Given the description of an element on the screen output the (x, y) to click on. 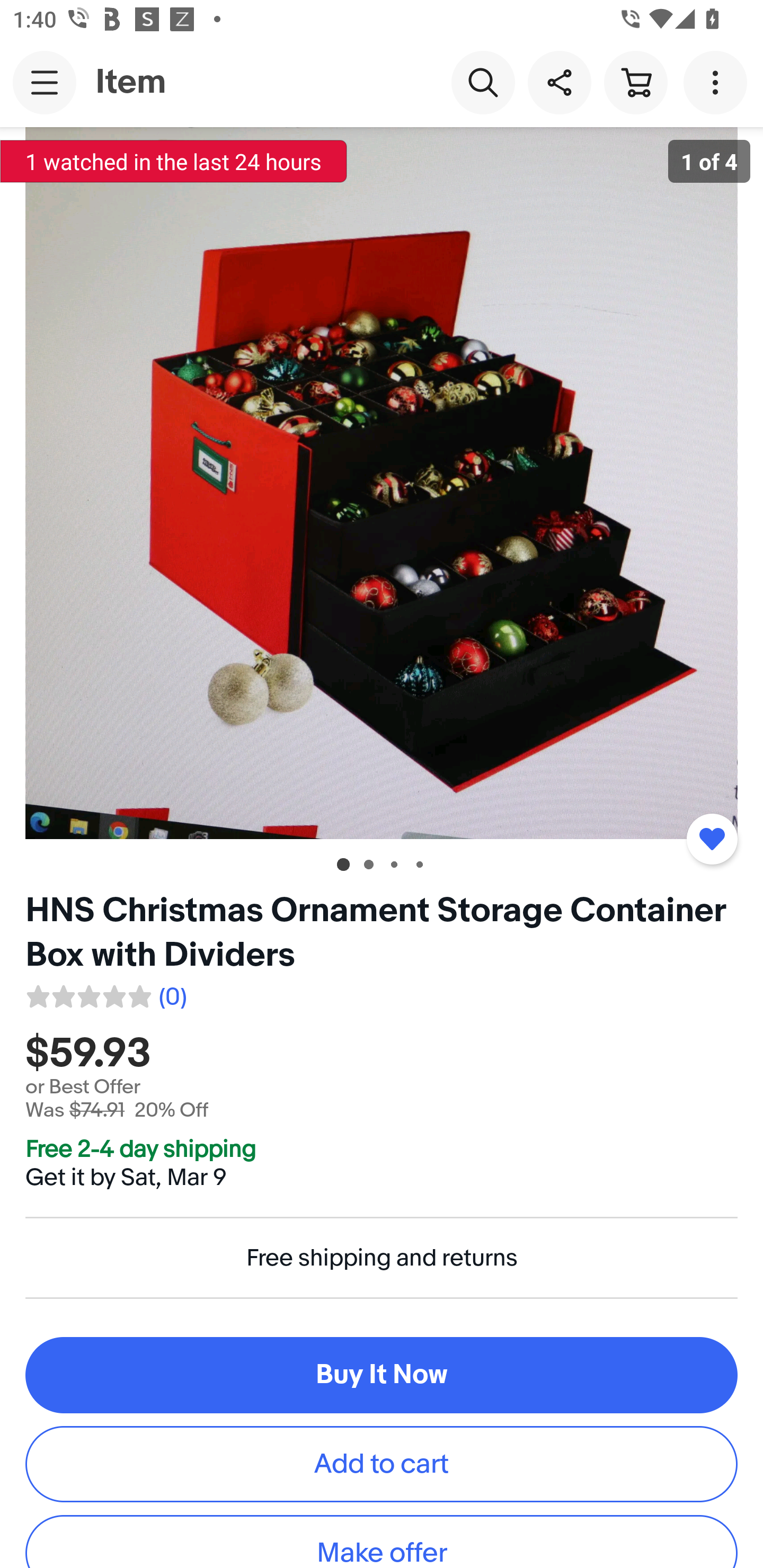
Main navigation, open (44, 82)
Search (482, 81)
Share this item (559, 81)
Cart button shopping cart (635, 81)
More options (718, 81)
Item image 1 of 4 (381, 482)
1 watched in the last 24 hours (173, 161)
Added to watchlist (711, 838)
0 reviews. Average rating 0.0 out of five 0.0 (0) (105, 993)
Buy It Now (381, 1374)
Add to cart (381, 1463)
Make offer (381, 1541)
